Given the description of an element on the screen output the (x, y) to click on. 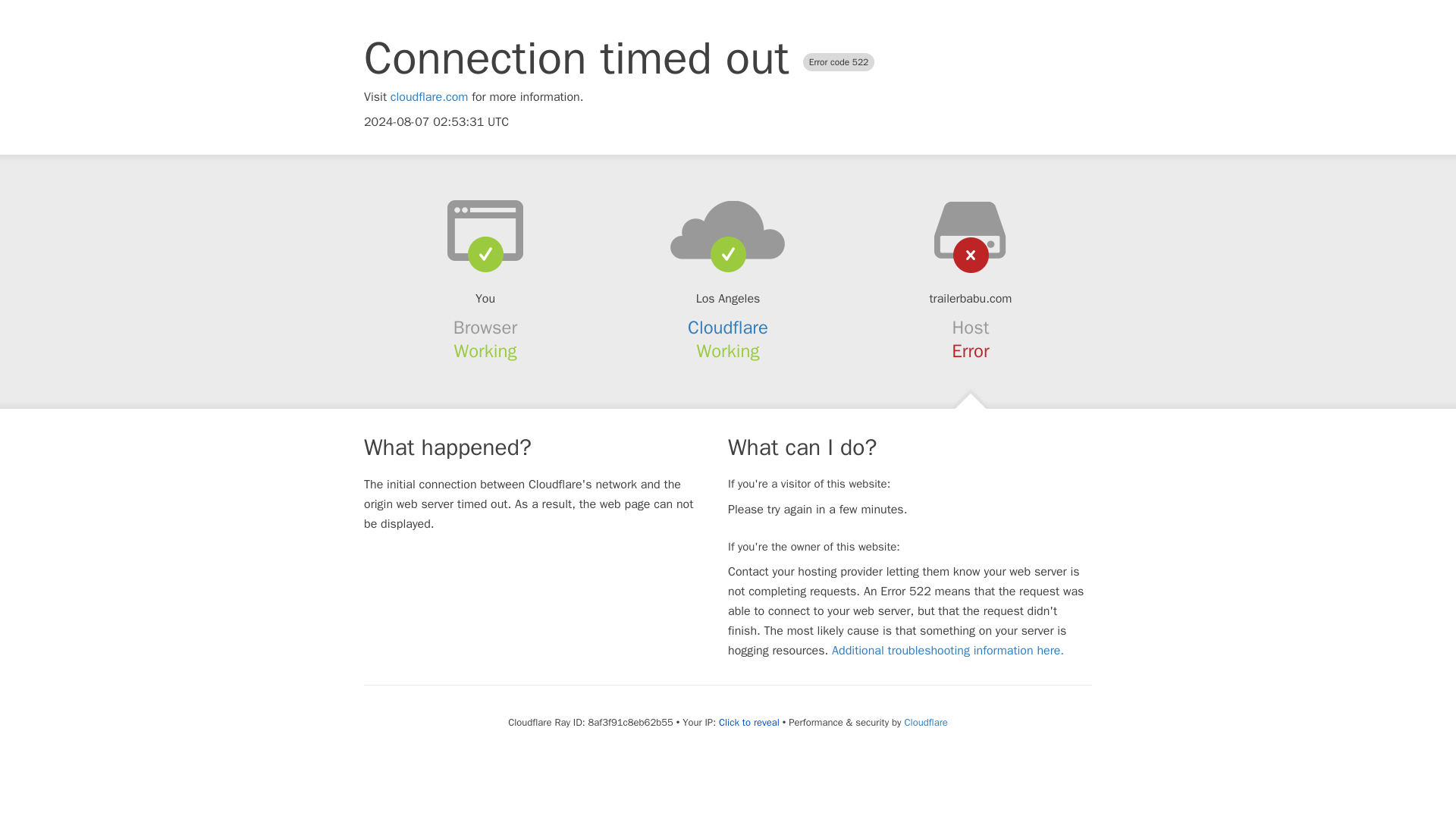
Cloudflare (925, 721)
Cloudflare (727, 327)
Additional troubleshooting information here. (947, 650)
cloudflare.com (429, 96)
Click to reveal (748, 722)
